Given the description of an element on the screen output the (x, y) to click on. 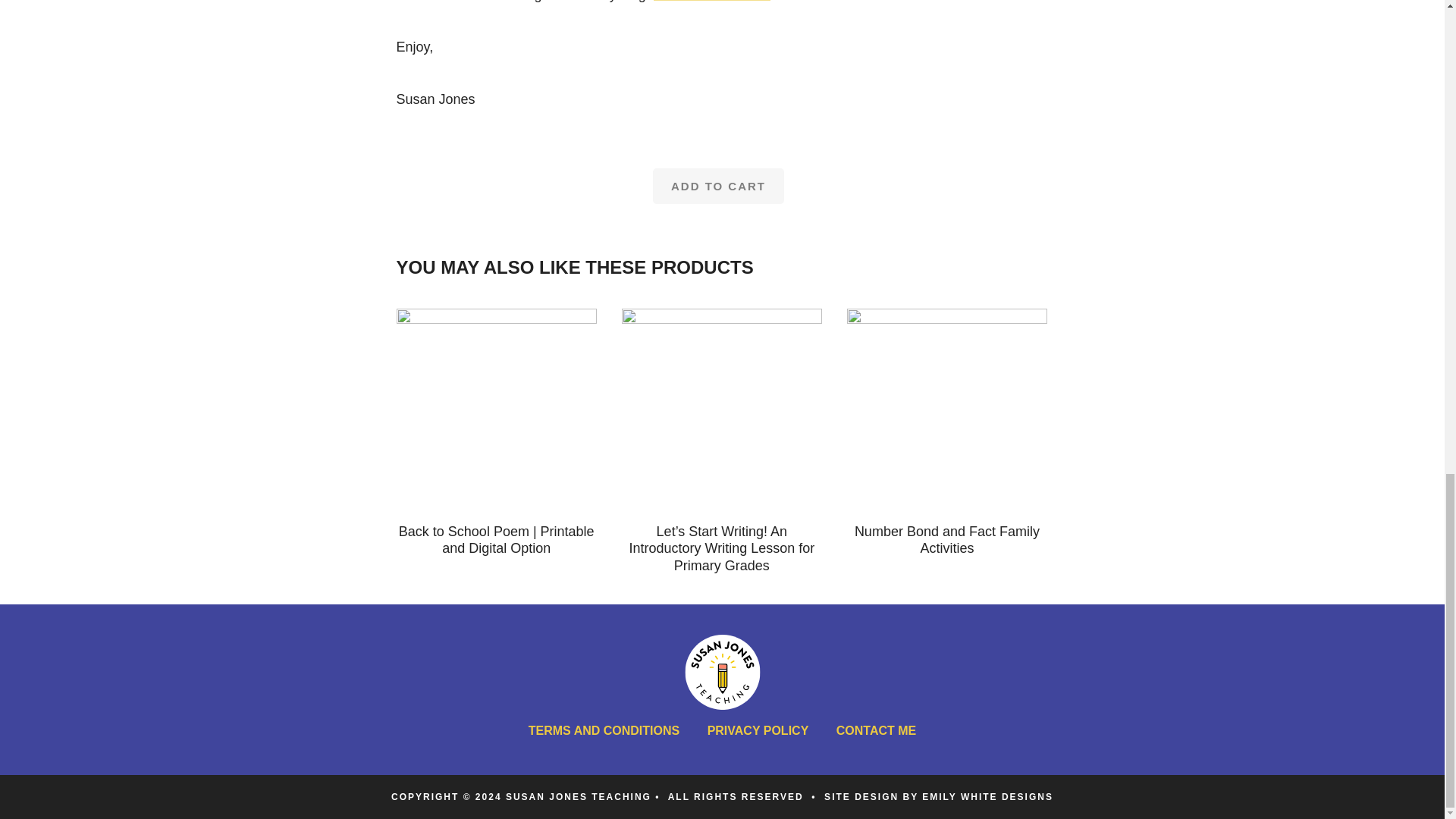
ADD TO CART (718, 185)
EMILY WHITE DESIGNS (986, 796)
PRIVACY POLICY (758, 730)
TERMS AND CONDITIONS (603, 730)
Halloween Games (711, 1)
Emily White Designs (986, 796)
CONTACT ME (875, 730)
